Given the description of an element on the screen output the (x, y) to click on. 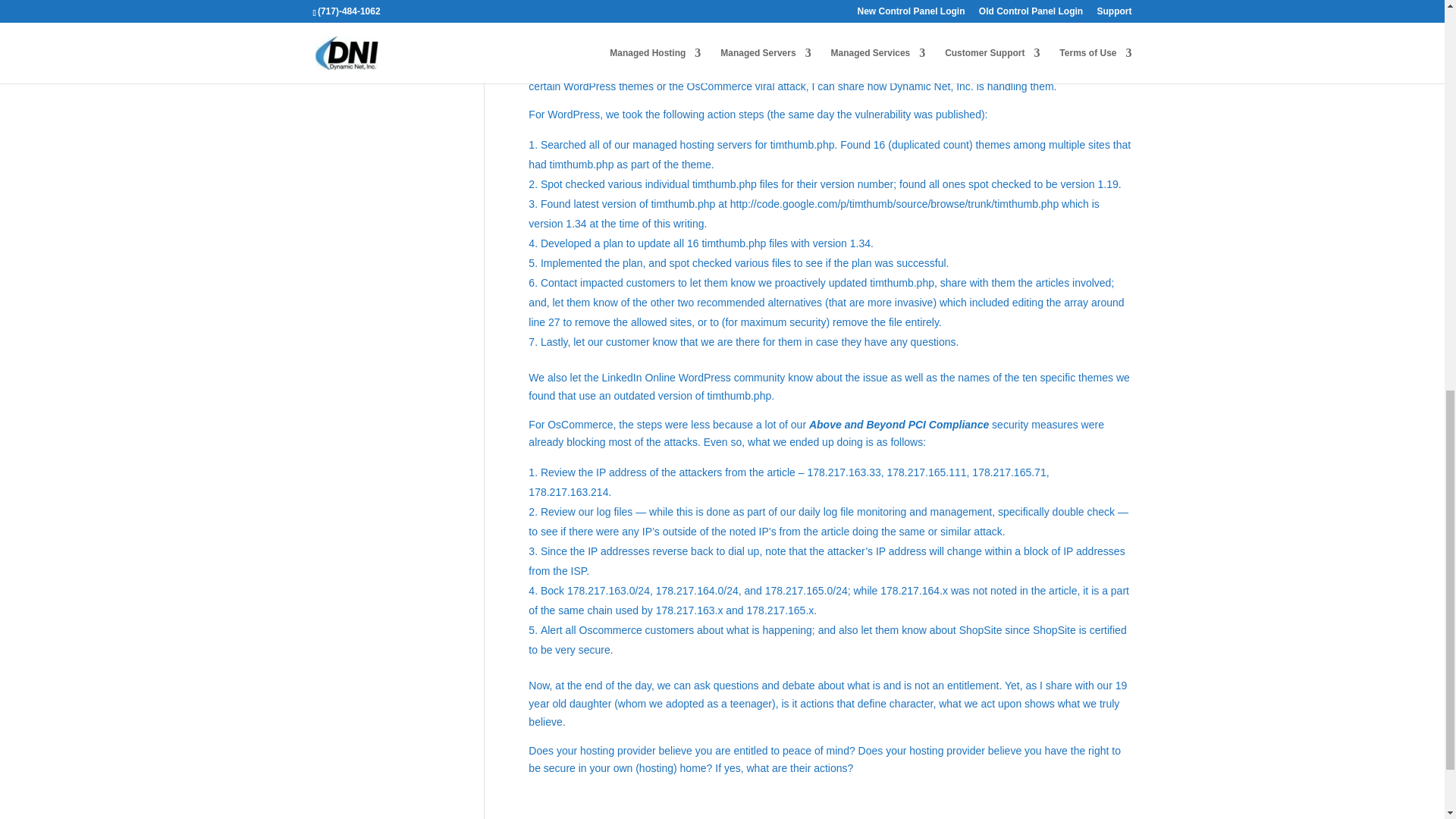
Current version of timthumb.php (894, 203)
Log file monitoring and management (894, 511)
Above and Beyond PCI Compliance (898, 424)
